Given the description of an element on the screen output the (x, y) to click on. 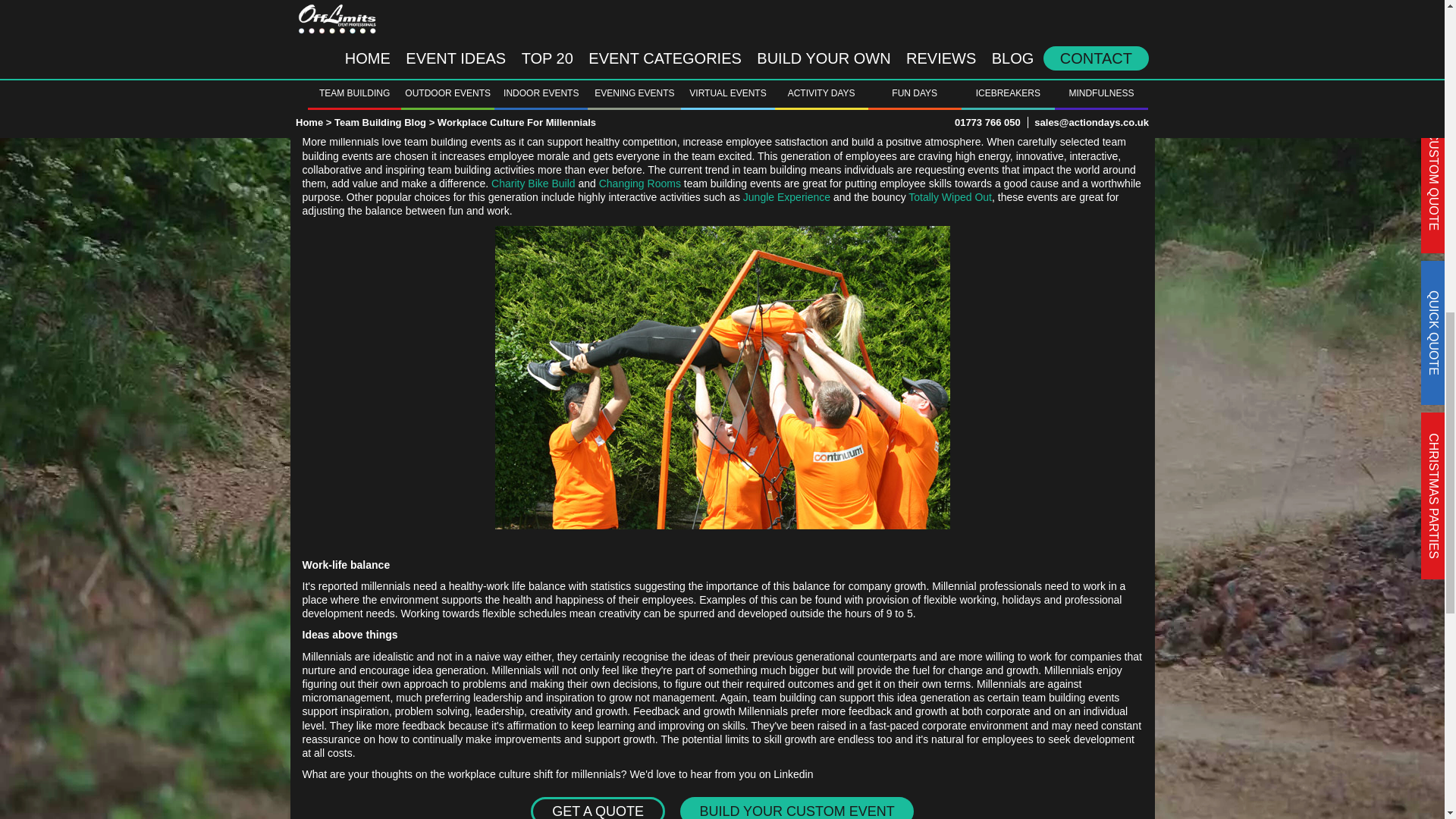
Totally Wiped Out (949, 197)
Team building (336, 118)
Changing Rooms (639, 183)
Jungle Experience (785, 197)
Charity Bike Build (533, 183)
